Given the description of an element on the screen output the (x, y) to click on. 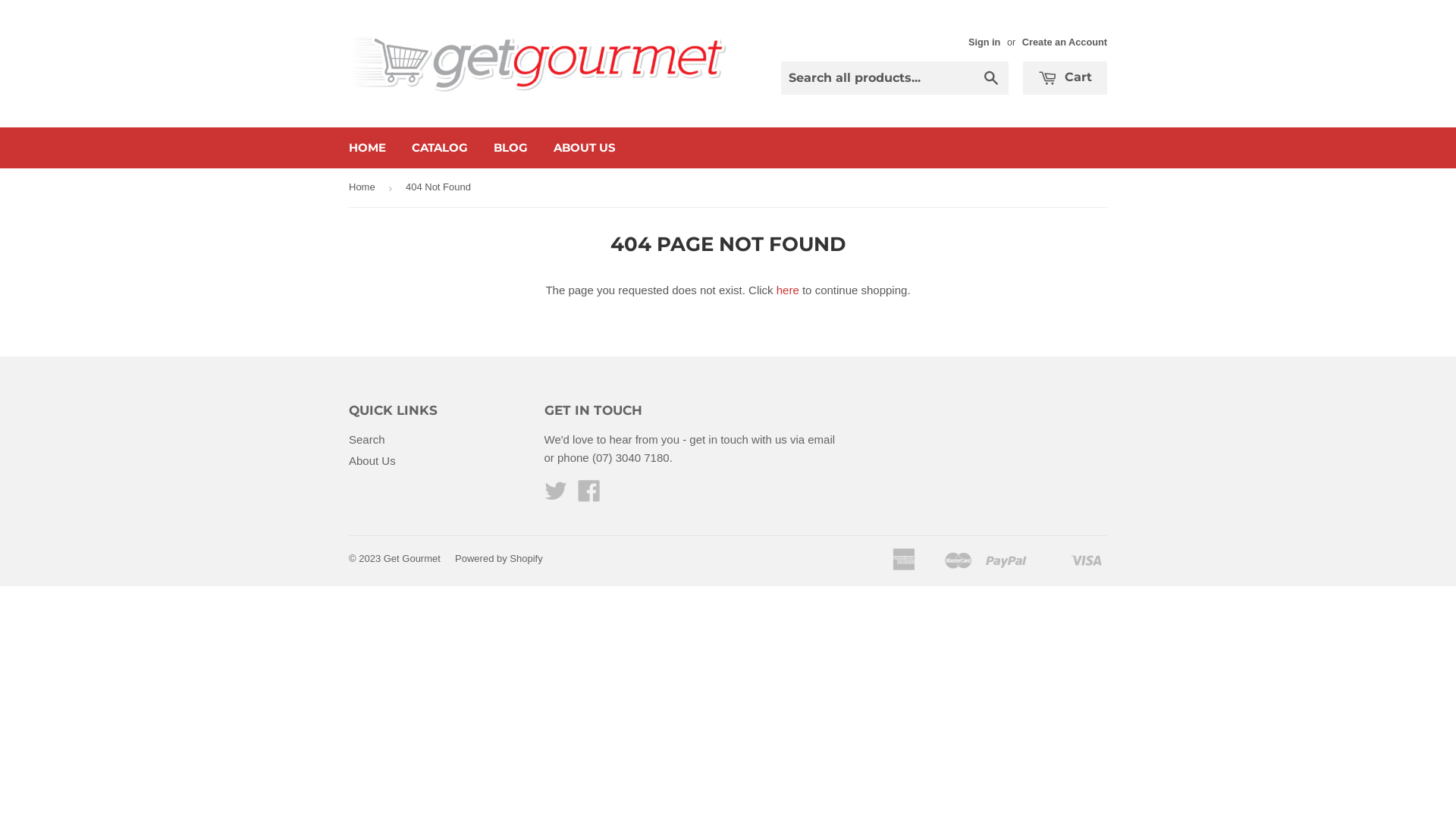
About Us Element type: text (371, 460)
Create an Account Element type: text (1064, 41)
Get Gourmet Element type: text (411, 558)
Home Element type: text (364, 187)
HOME Element type: text (367, 147)
here Element type: text (787, 289)
Facebook Element type: text (588, 495)
Twitter Element type: text (555, 495)
Cart Element type: text (1064, 77)
CATALOG Element type: text (439, 147)
Search Element type: text (991, 78)
Sign in Element type: text (984, 41)
ABOUT US Element type: text (584, 147)
Search Element type: text (366, 439)
BLOG Element type: text (510, 147)
email Element type: text (820, 439)
Powered by Shopify Element type: text (498, 558)
